Given the description of an element on the screen output the (x, y) to click on. 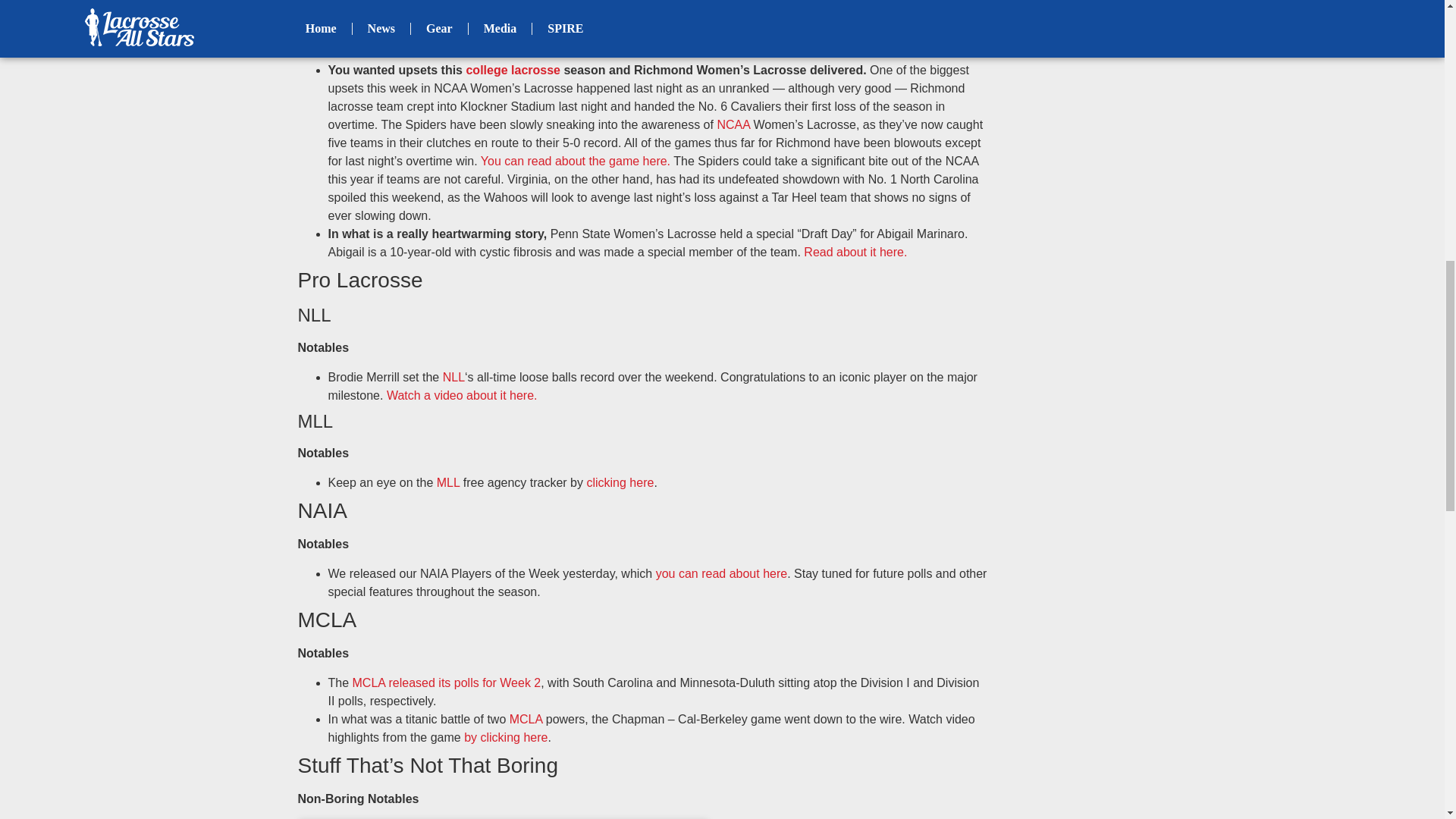
Read about it here. (855, 251)
college lacrosse (512, 69)
clicking here (619, 481)
NCAA (732, 124)
you can read about here (721, 573)
You can read about the game here. (574, 160)
NLL (453, 377)
Watch a video about it here. (462, 395)
MLL (448, 481)
